Given the description of an element on the screen output the (x, y) to click on. 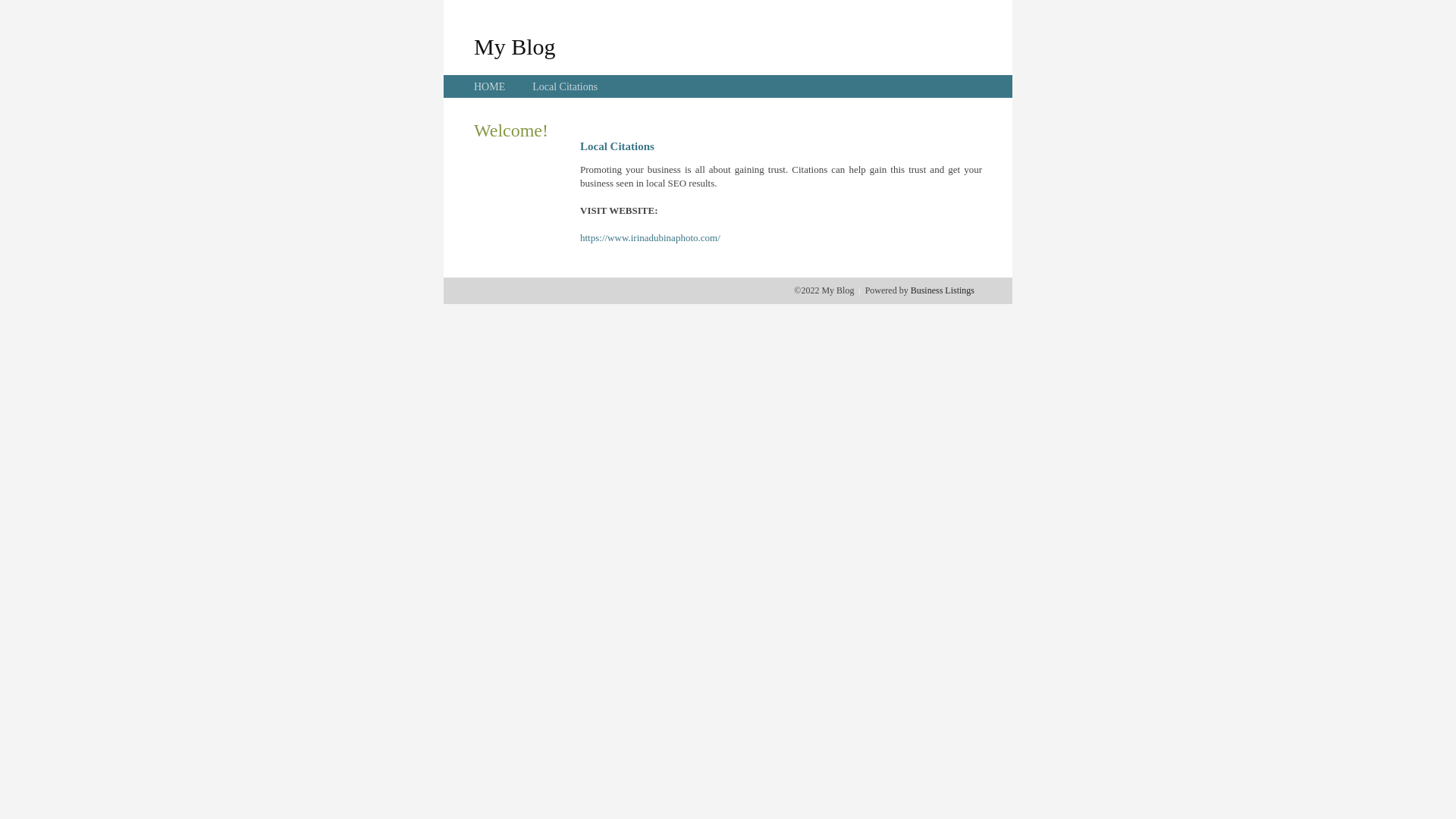
https://www.irinadubinaphoto.com/ Element type: text (650, 237)
Business Listings Element type: text (942, 290)
My Blog Element type: text (514, 46)
Local Citations Element type: text (564, 86)
HOME Element type: text (489, 86)
